Given the description of an element on the screen output the (x, y) to click on. 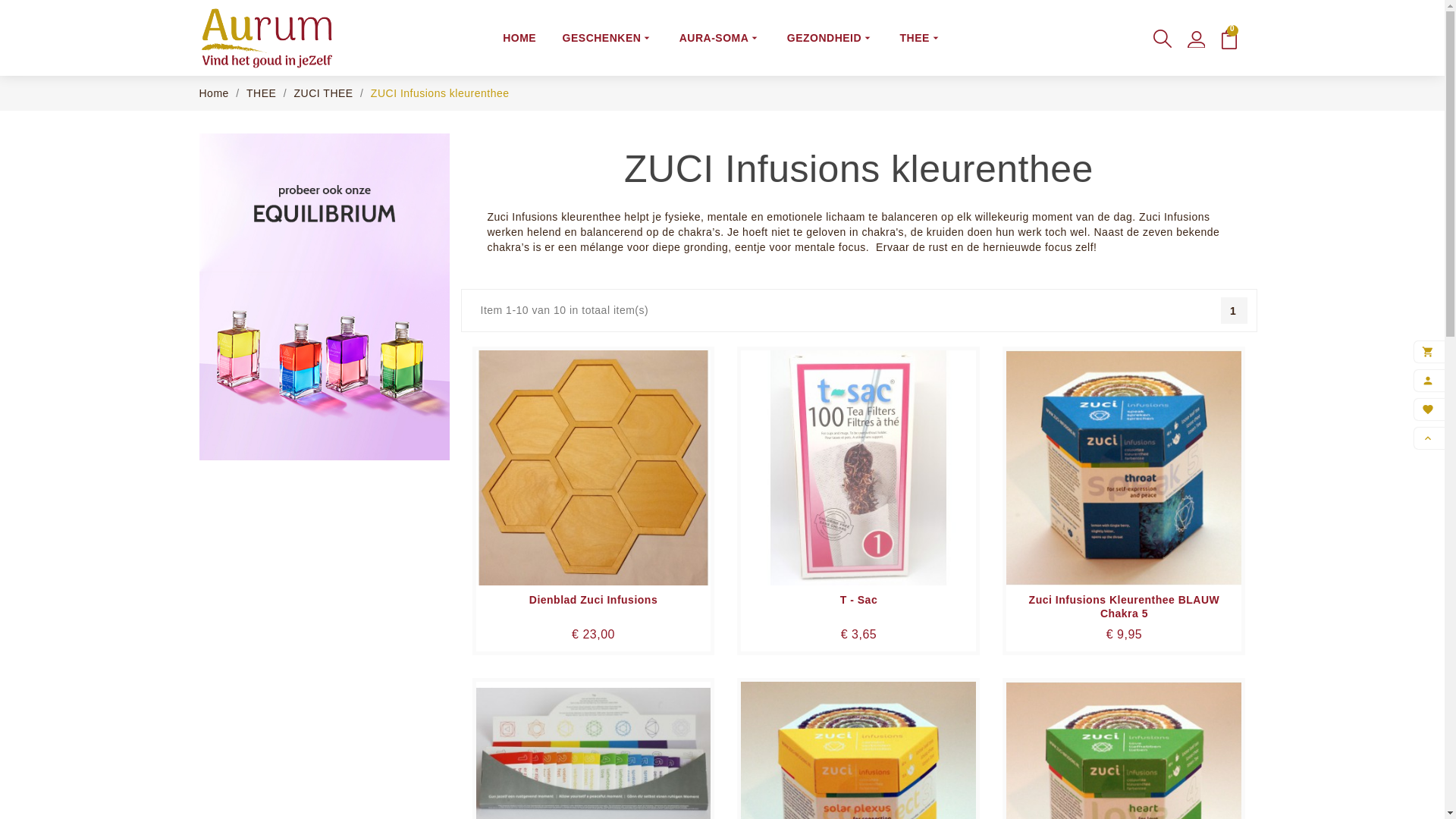
ZUCI THEE Element type: text (325, 93)
1 Element type: text (1233, 310)
Dienblad Zuci Infusions Element type: text (593, 599)
ZUCI Infusions kleurenthee Element type: text (439, 93)
HOME Element type: text (519, 37)
Zuci Infusions Kleurenthee BLAUW Chakra 5 Element type: text (1123, 606)
T - Sac Element type: text (858, 599)
THEE Element type: text (262, 93)
Home Element type: text (215, 93)
